Given the description of an element on the screen output the (x, y) to click on. 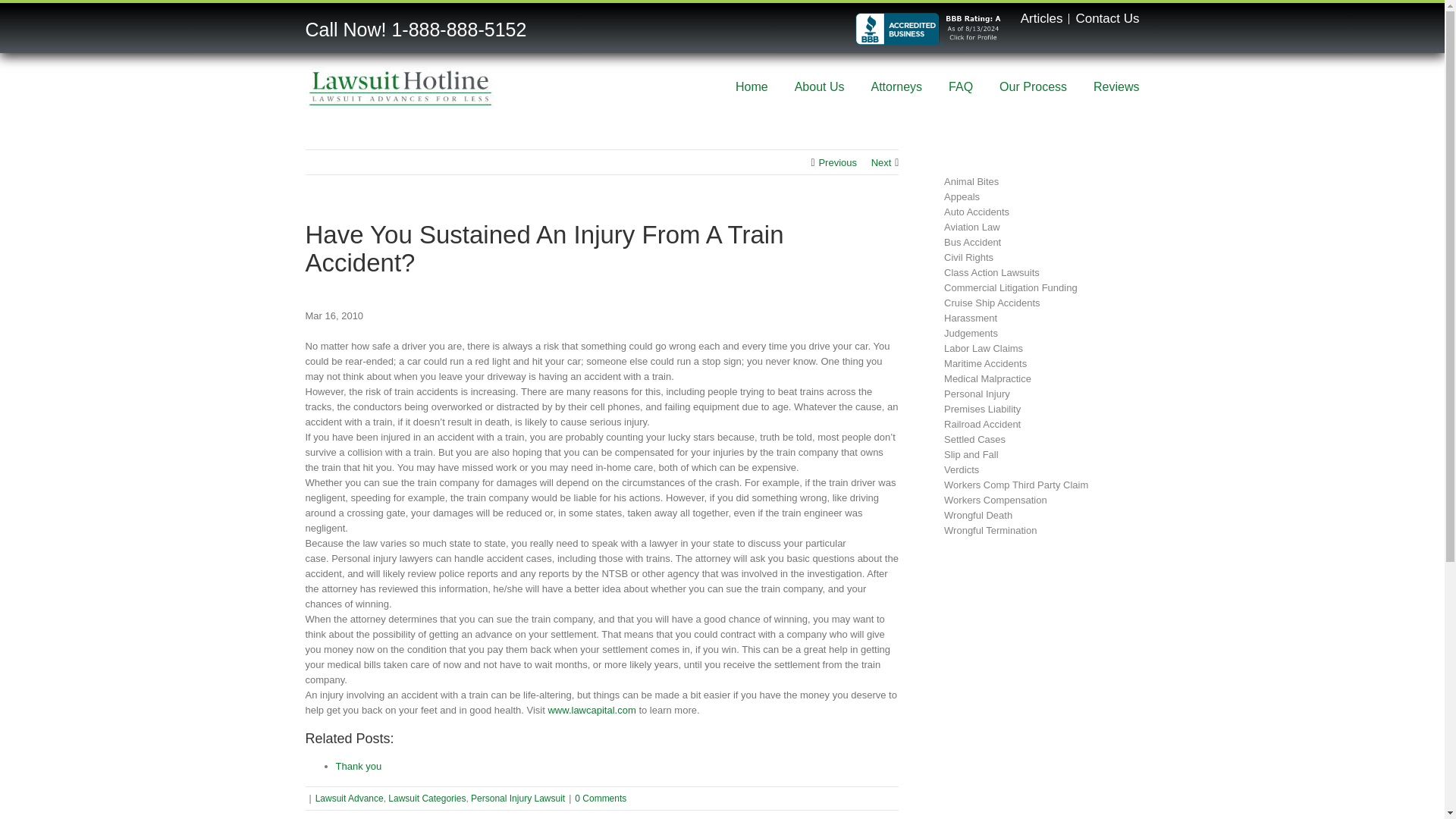
Articles (1041, 18)
Contact Us (1106, 18)
Previous (837, 162)
Lawsuit Categories (426, 798)
Thank you (357, 766)
www.lawcapital.com (590, 709)
Lawsuit Advance (349, 798)
1-888-888-5152 (458, 29)
Personal Injury Lawsuit (517, 798)
Our Process (1032, 85)
